Given the description of an element on the screen output the (x, y) to click on. 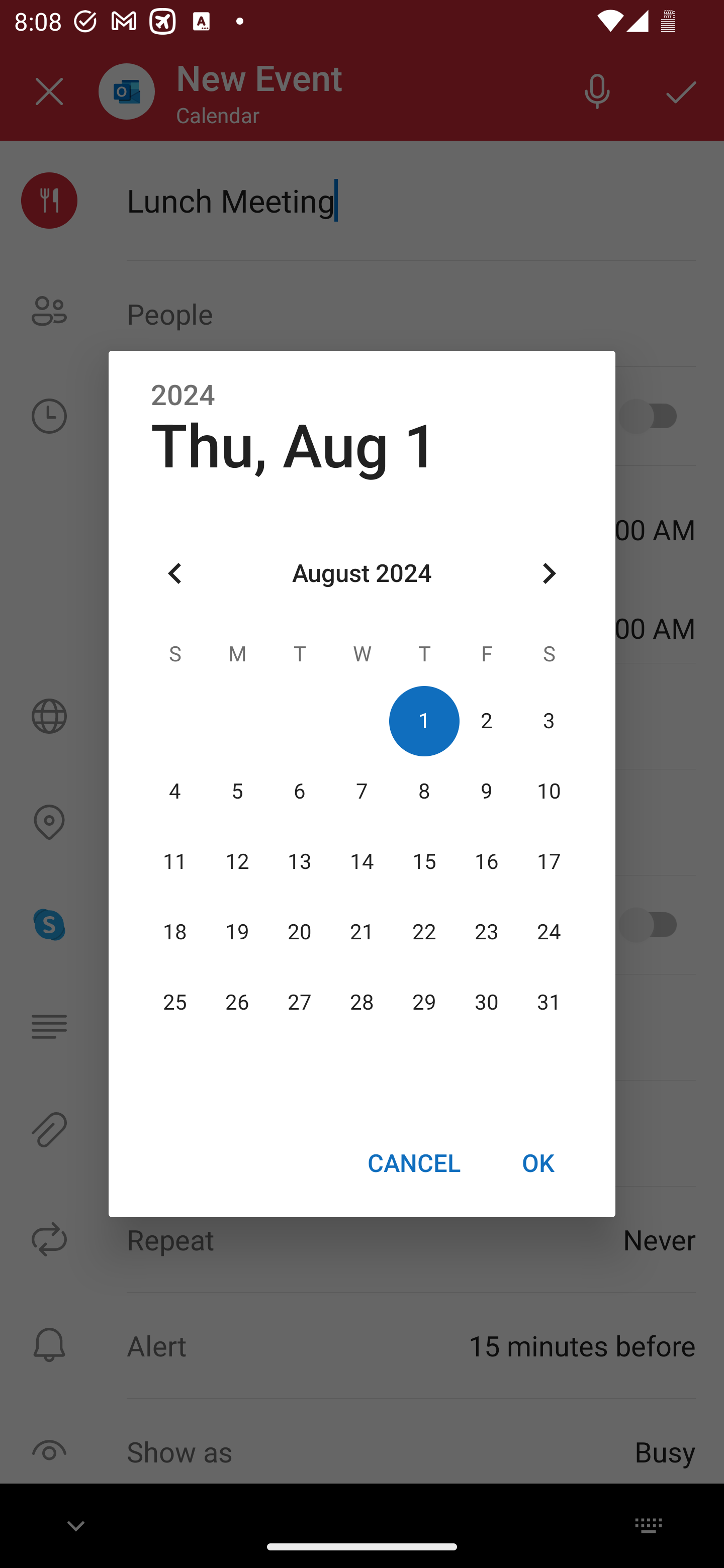
2024 (182, 395)
Thu, Aug 1 (294, 446)
Previous month (174, 573)
Next month (548, 573)
1 01 August 2024 (424, 720)
2 02 August 2024 (486, 720)
3 03 August 2024 (548, 720)
4 04 August 2024 (175, 790)
5 05 August 2024 (237, 790)
6 06 August 2024 (299, 790)
7 07 August 2024 (361, 790)
8 08 August 2024 (424, 790)
9 09 August 2024 (486, 790)
10 10 August 2024 (548, 790)
11 11 August 2024 (175, 861)
12 12 August 2024 (237, 861)
13 13 August 2024 (299, 861)
14 14 August 2024 (361, 861)
15 15 August 2024 (424, 861)
16 16 August 2024 (486, 861)
